Given the description of an element on the screen output the (x, y) to click on. 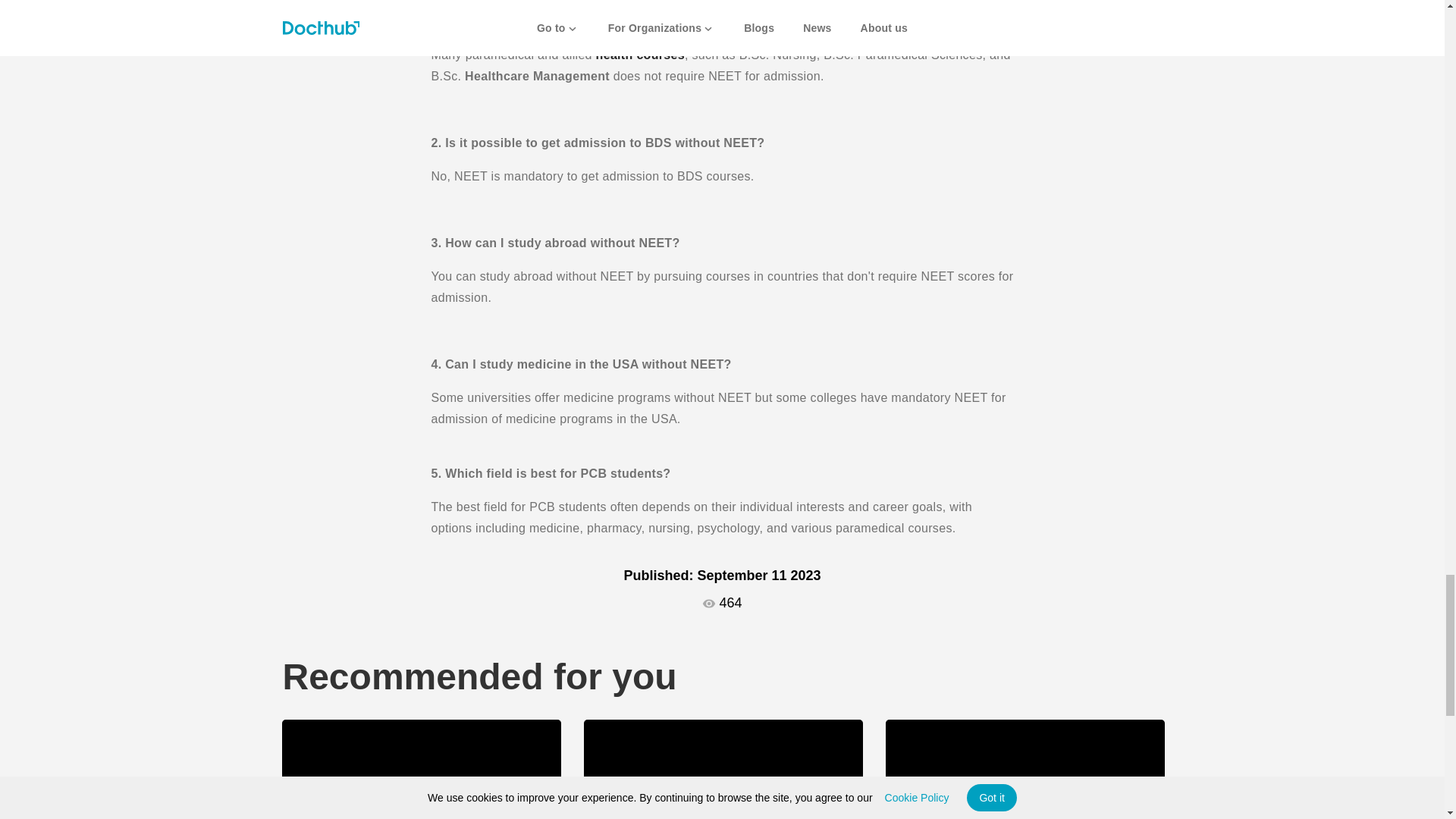
Top 10 best private medical colleges in India with low fees (421, 769)
After B.Sc. Nursing Which Course is Best? (1024, 769)
Healthcare Career App - Docthub (723, 769)
health courses (638, 54)
